Given the description of an element on the screen output the (x, y) to click on. 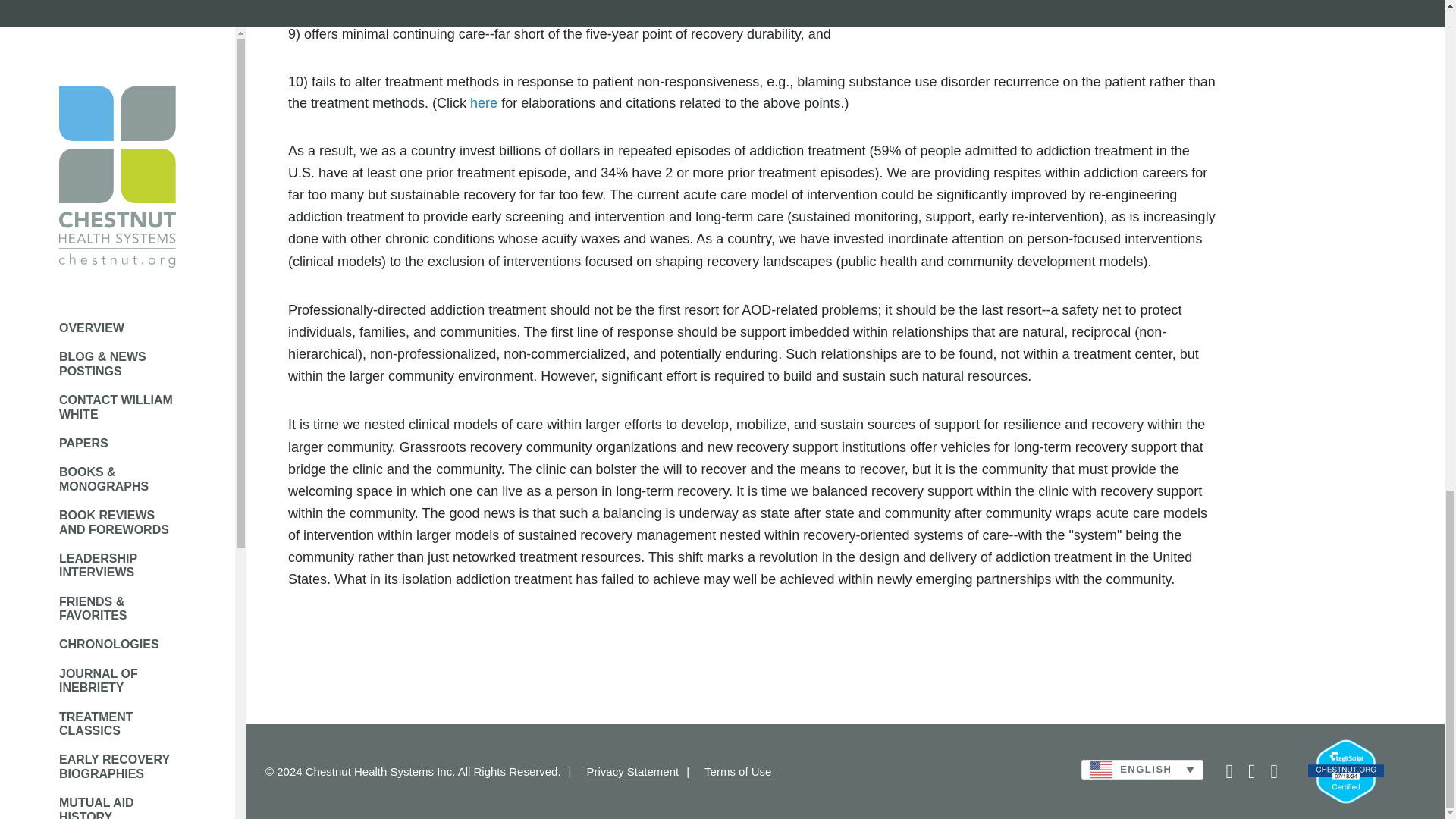
Verify LegitScript Approval (1345, 771)
